Given the description of an element on the screen output the (x, y) to click on. 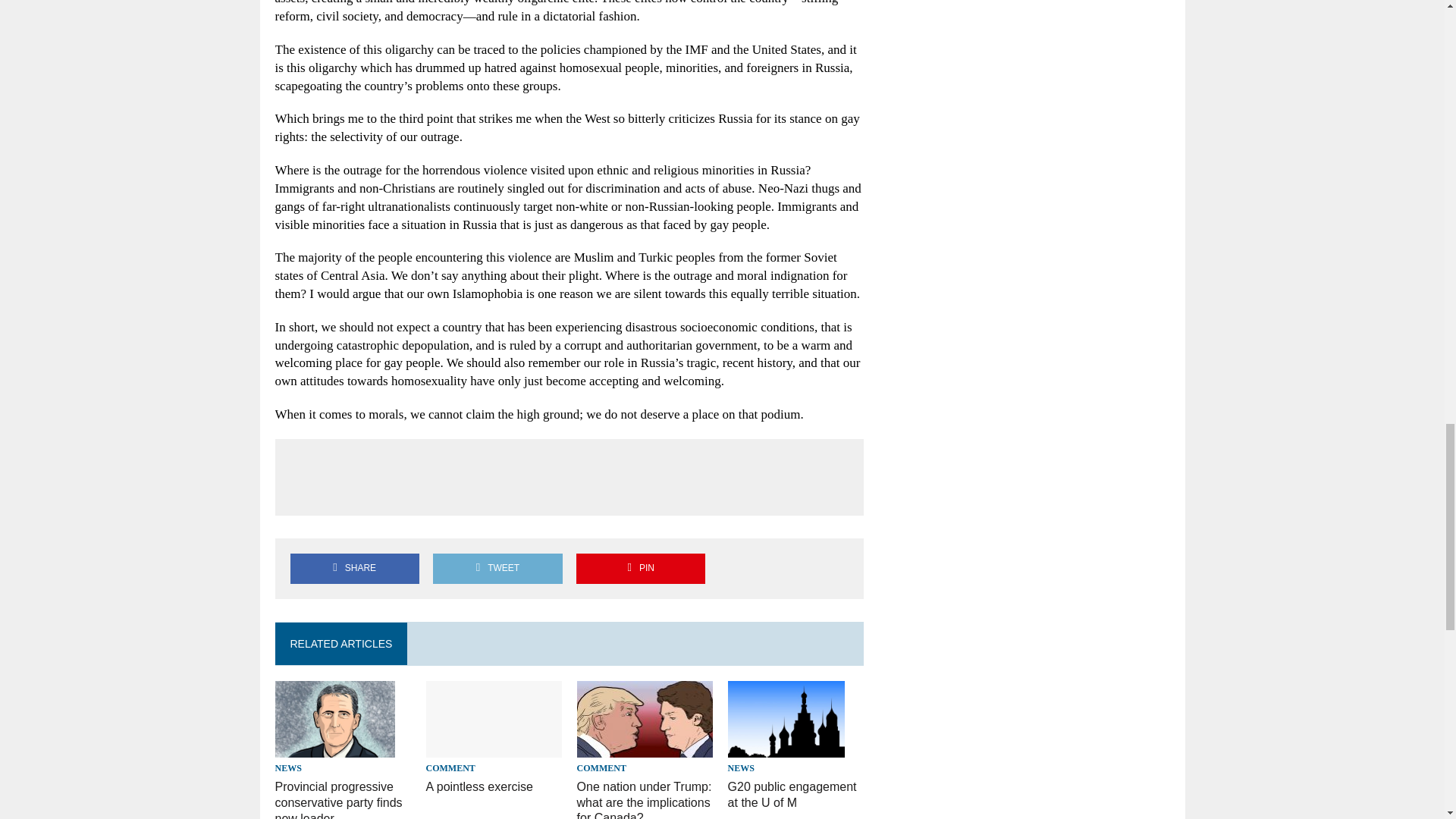
G20 public engagement at the U of M (786, 748)
Tweet This Post (497, 568)
Share on Facebook (354, 568)
A pointless exercise (479, 786)
Pin This Post (640, 568)
A pointless exercise (494, 747)
Provincial progressive conservative party finds new leader (334, 747)
Provincial progressive conservative party finds new leader (338, 799)
